Given the description of an element on the screen output the (x, y) to click on. 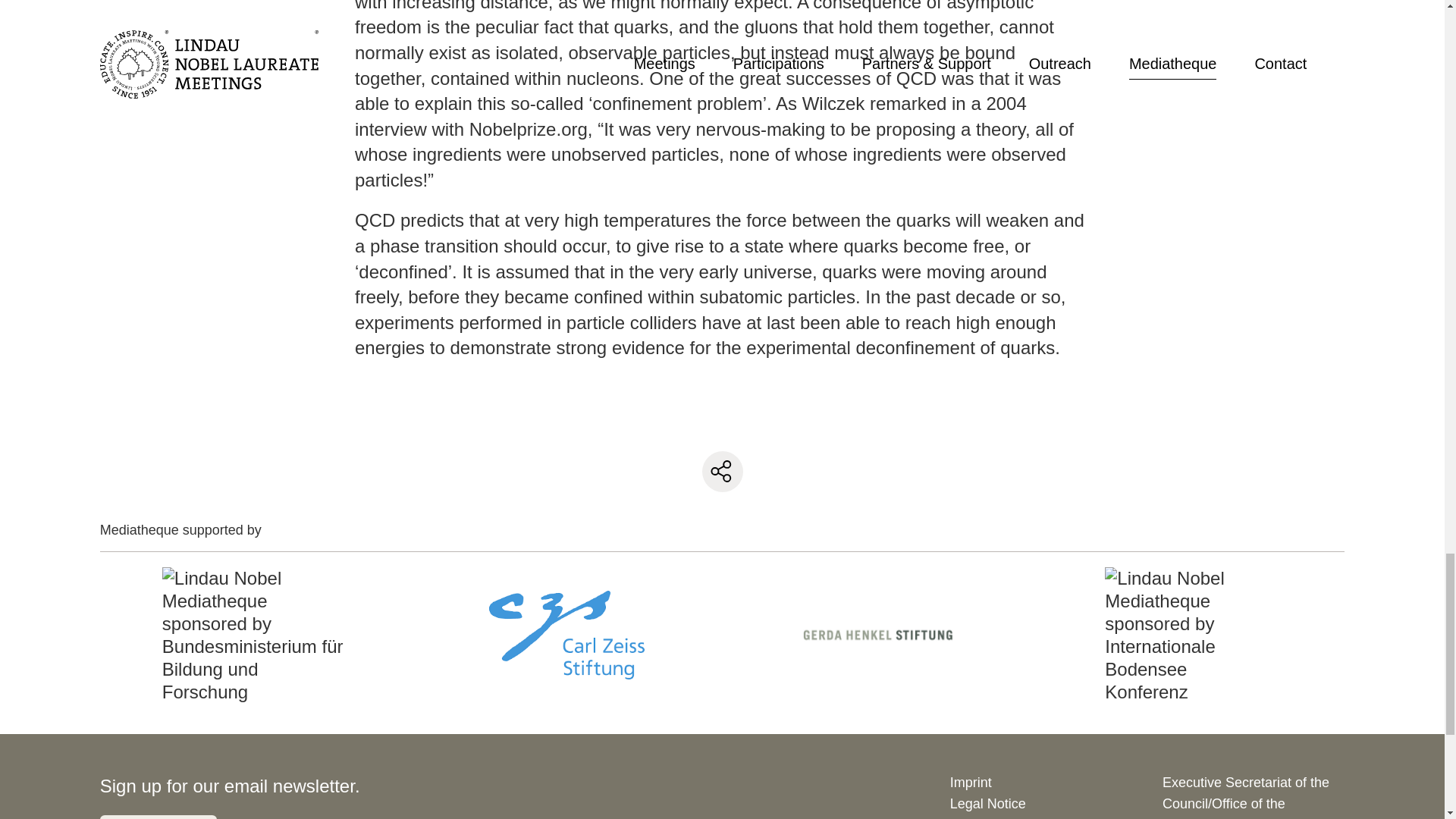
Carl Zeiss Stiftung (566, 634)
Internationale Bodensee Konferenz (1188, 635)
Gerda Henkel Stiftung (877, 634)
